Given the description of an element on the screen output the (x, y) to click on. 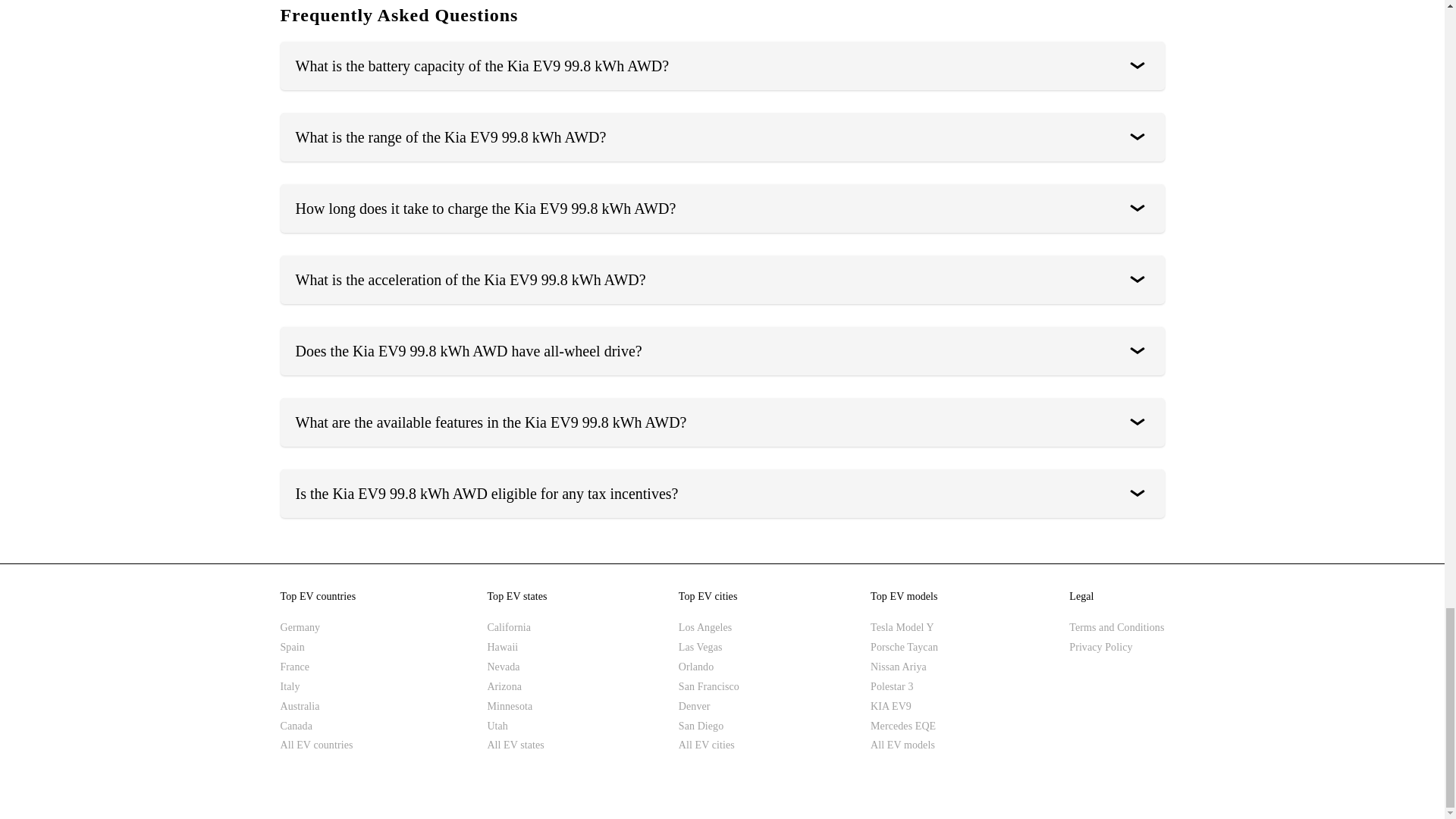
Canada (318, 726)
Denver (708, 706)
Italy (318, 686)
Germany (318, 628)
Germany (318, 628)
Spain (318, 647)
Minnesota (516, 706)
Arizona (516, 686)
Nevada (516, 667)
San Diego (708, 726)
Las Vegas (708, 647)
Italy (318, 686)
Orlando (708, 667)
Spain (318, 647)
France (318, 667)
